Given the description of an element on the screen output the (x, y) to click on. 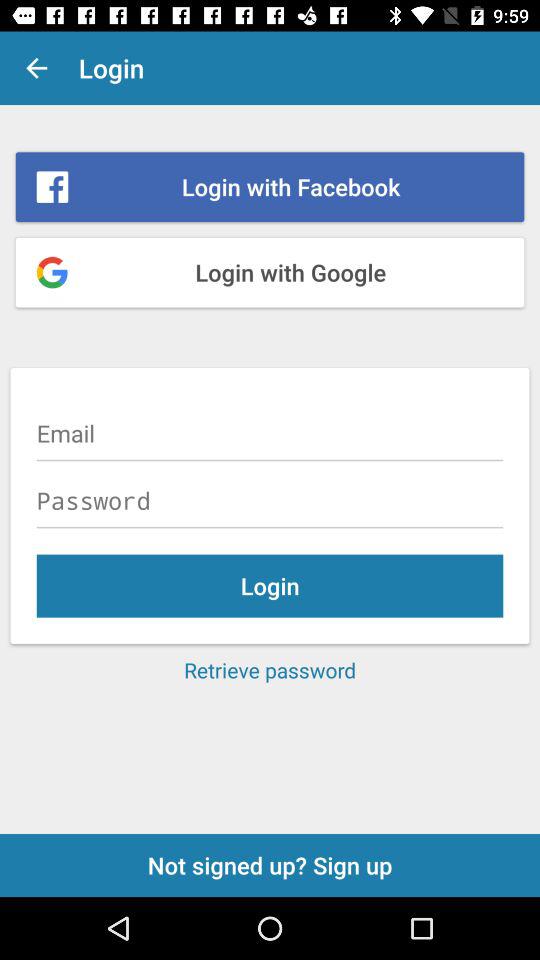
type your password (269, 500)
